Given the description of an element on the screen output the (x, y) to click on. 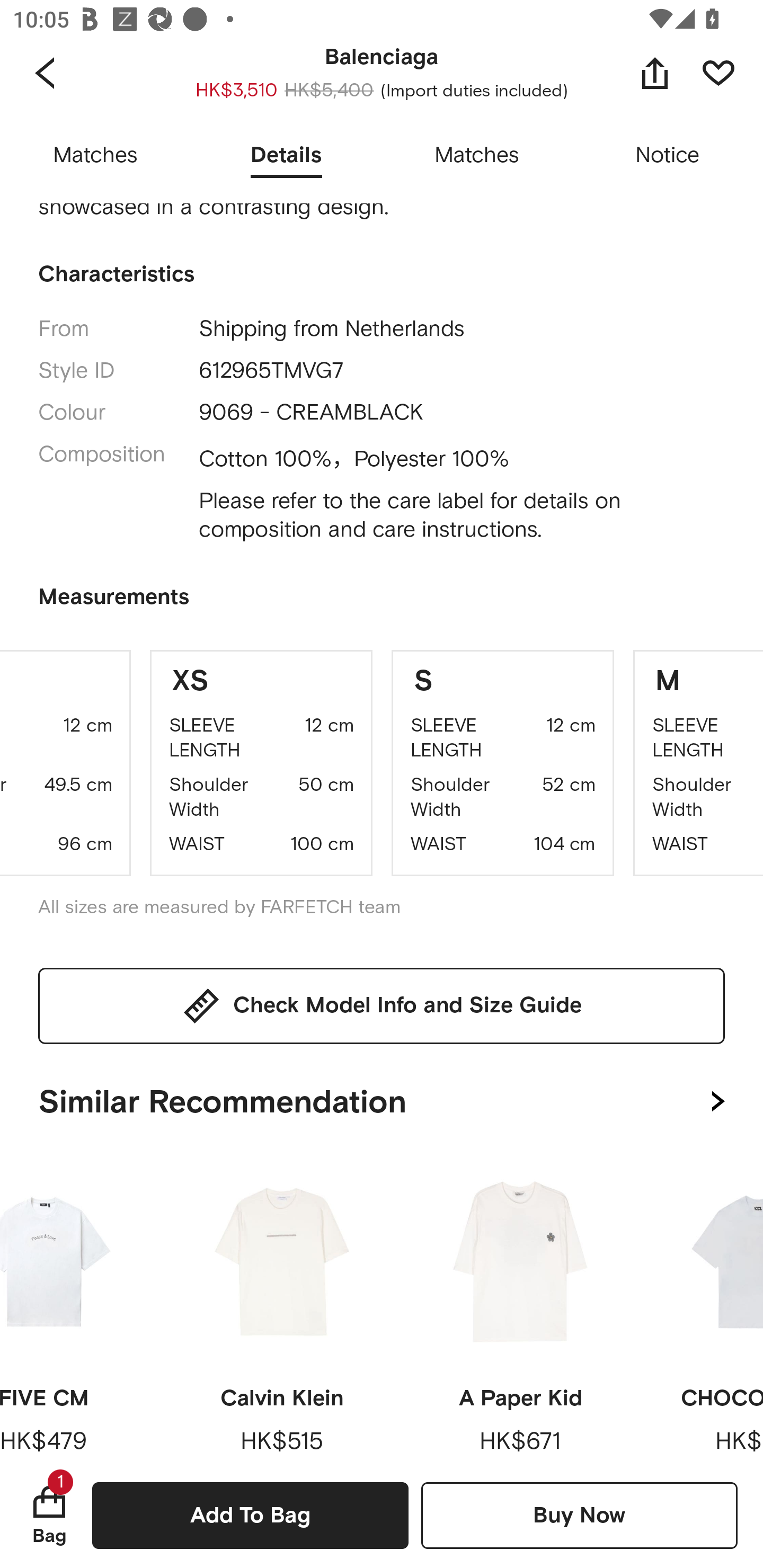
Matches (95, 155)
Matches (476, 155)
Notice (667, 155)
 Check Model Info and Size Guide (381, 1005)
Similar Recommendation (381, 1098)
FIVE CM HK$479 (76, 1307)
Calvin Klein HK$515 (281, 1307)
A Paper Kid HK$671 (520, 1307)
Bag 1 (49, 1515)
Add To Bag (250, 1515)
Buy Now (579, 1515)
